Given the description of an element on the screen output the (x, y) to click on. 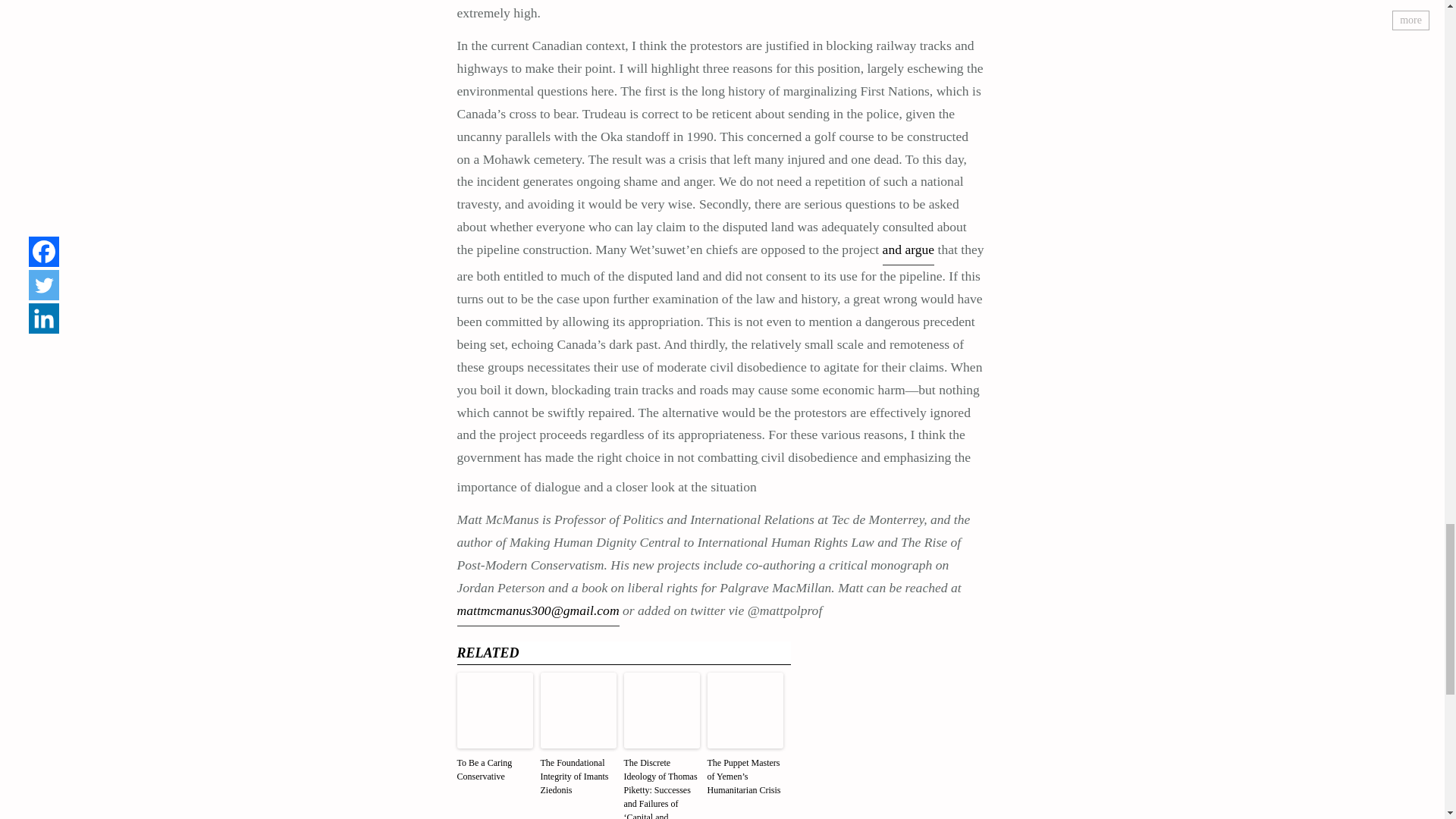
and argue (908, 252)
The Foundational Integrity of Imants Ziedonis (577, 777)
To Be a Caring Conservative (494, 771)
